Given the description of an element on the screen output the (x, y) to click on. 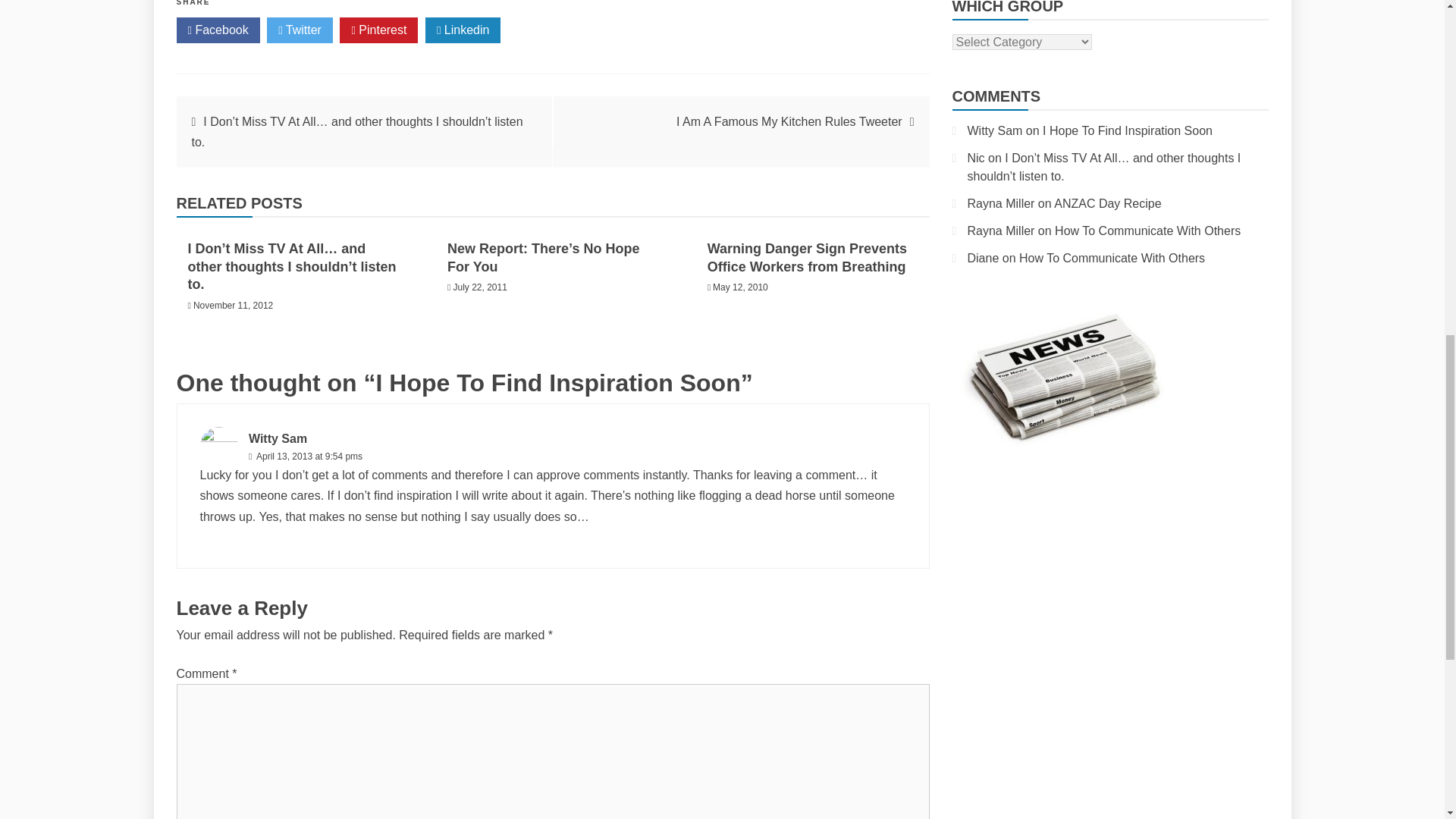
Linkedin (462, 30)
Warning Danger Sign Prevents Office Workers from Breathing (807, 256)
Twitter (299, 30)
May 12, 2010 (740, 286)
July 22, 2011 (479, 286)
November 11, 2012 (233, 305)
April 13, 2013 at 9:54 pms (307, 456)
I Am A Famous My Kitchen Rules Tweeter (789, 121)
Facebook (217, 30)
Witty Sam (277, 438)
Pinterest (378, 30)
